Given the description of an element on the screen output the (x, y) to click on. 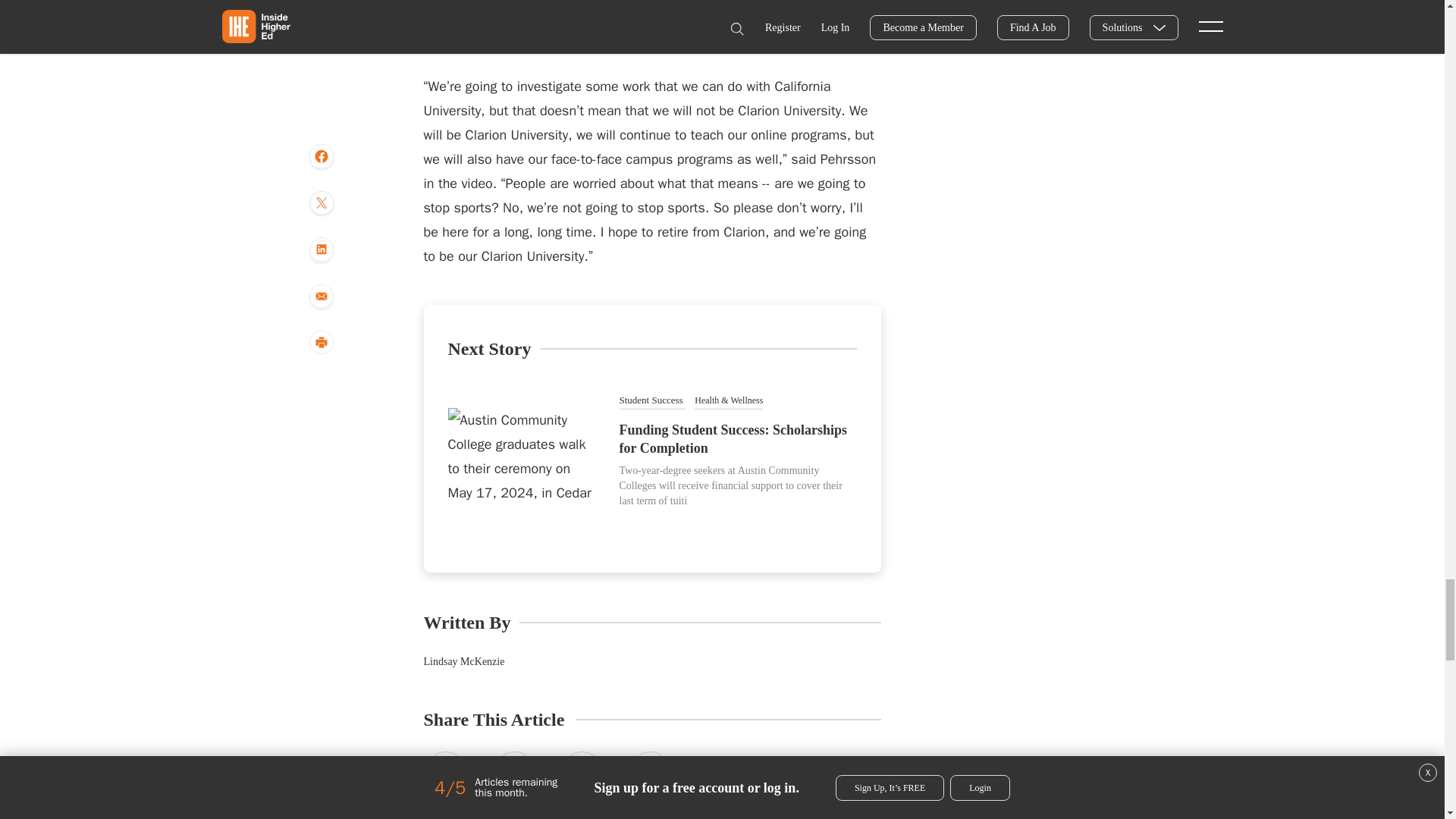
share to facebook (445, 772)
